Given the description of an element on the screen output the (x, y) to click on. 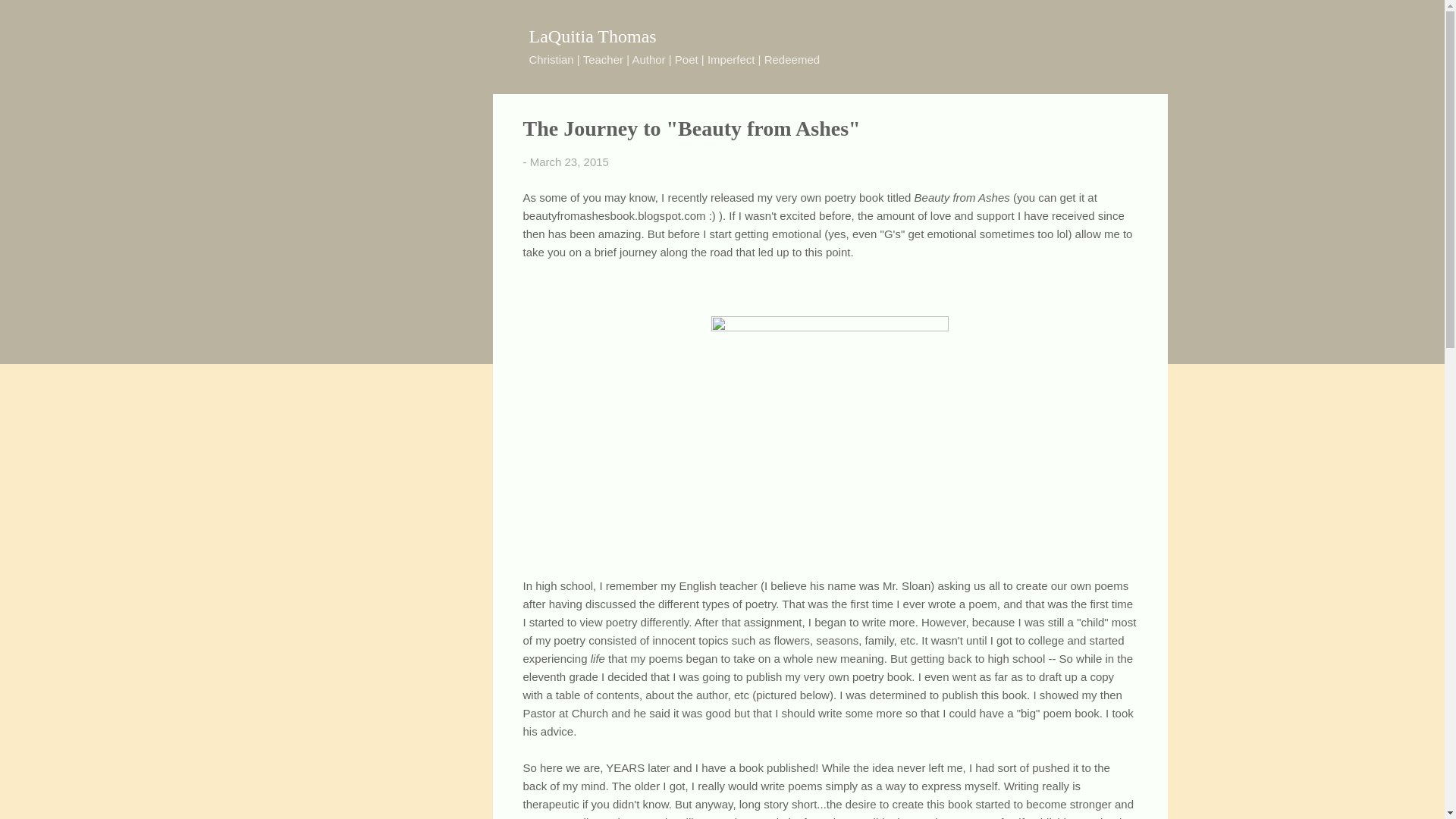
March 23, 2015 (568, 161)
permanent link (568, 161)
LaQuitia Thomas (592, 35)
